Given the description of an element on the screen output the (x, y) to click on. 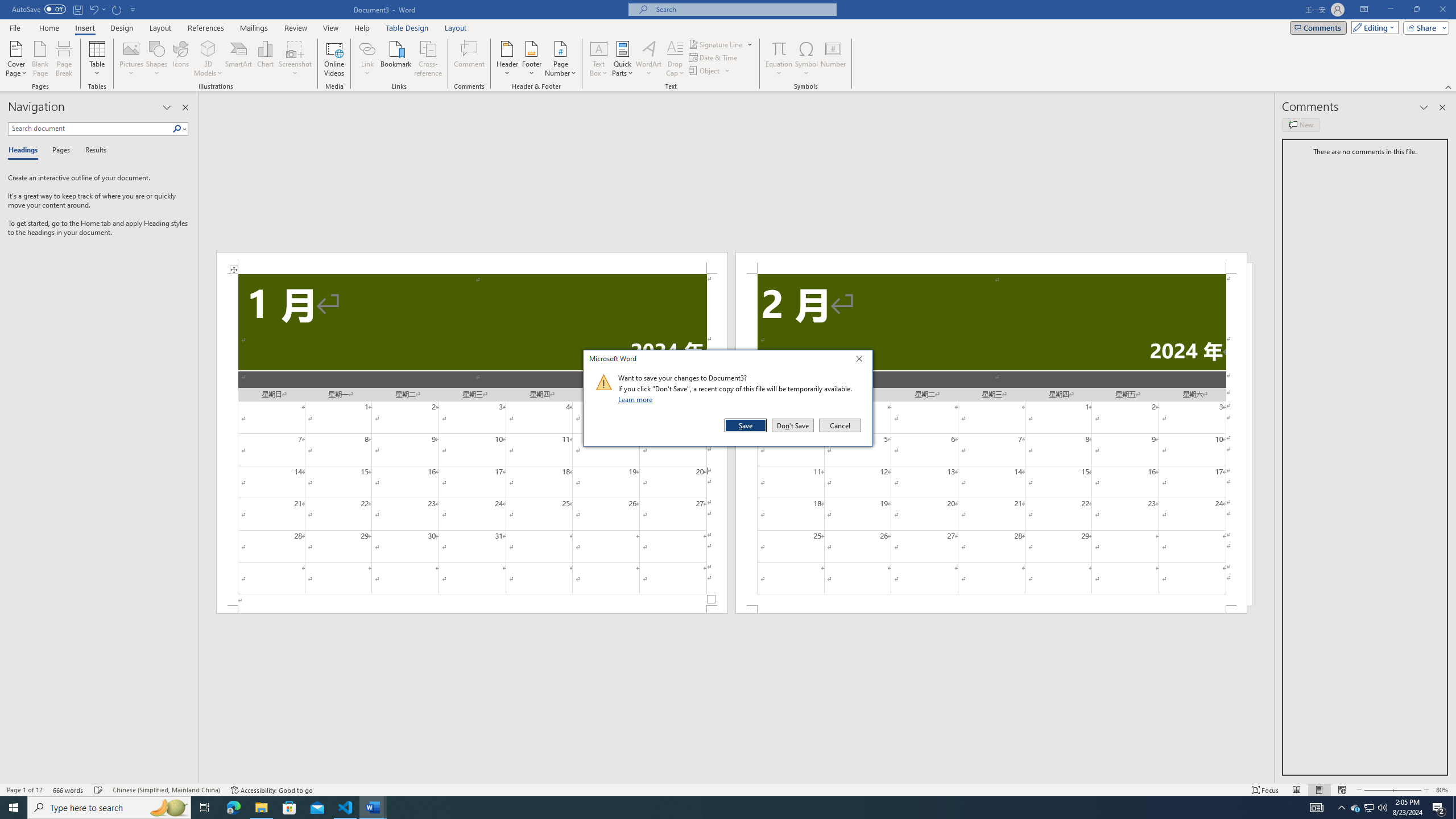
New comment (1300, 124)
Print Layout (1318, 790)
Ribbon Display Options (1364, 9)
Footer (531, 58)
AutoSave (38, 9)
Results (91, 150)
Shapes (156, 58)
Search highlights icon opens search home window (167, 807)
Undo Increase Indent (92, 9)
Review (295, 28)
Comments (1318, 27)
Microsoft Edge (233, 807)
Quick Parts (622, 58)
Header (507, 58)
Number... (833, 58)
